Given the description of an element on the screen output the (x, y) to click on. 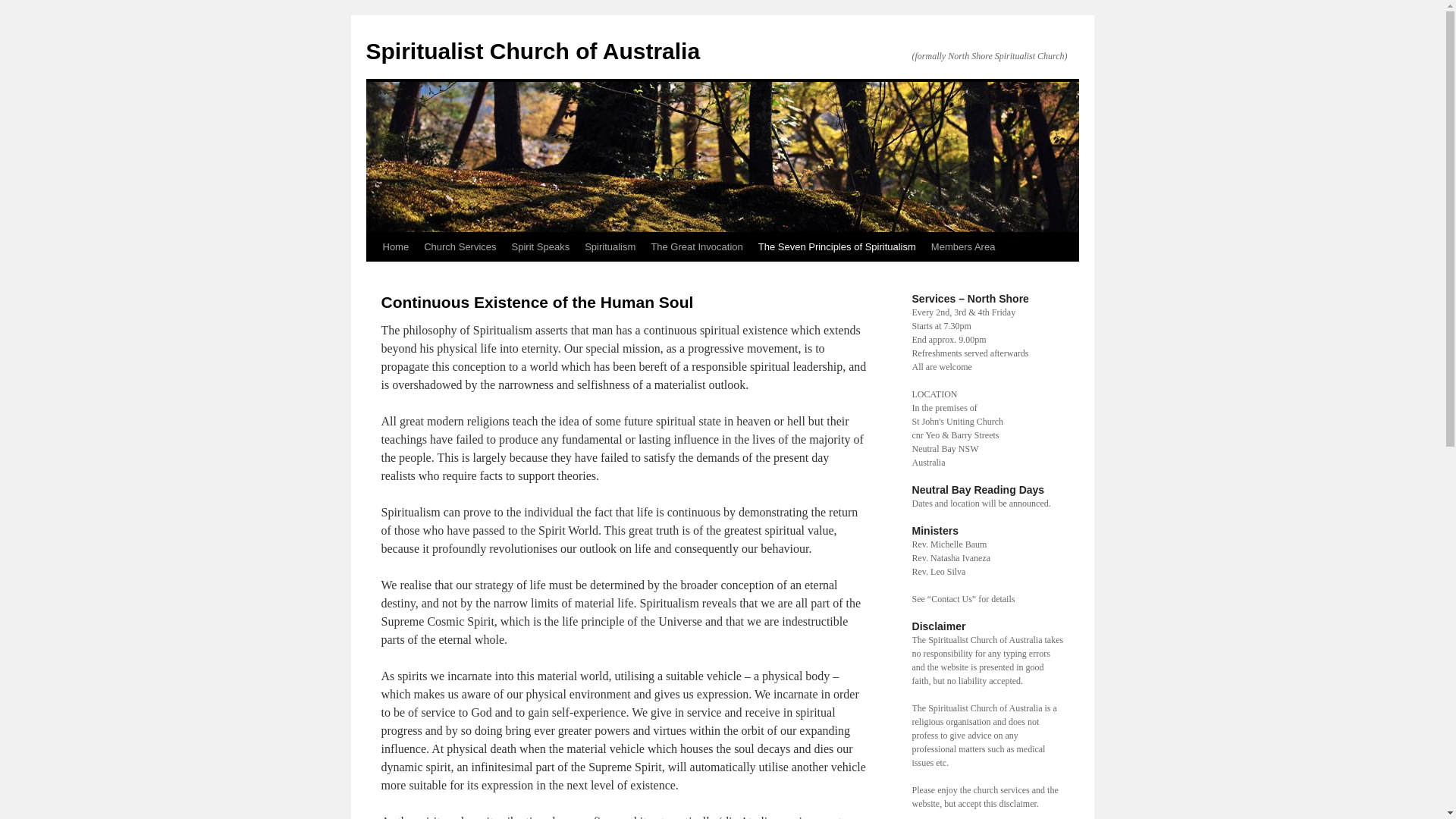
Spiritualism Element type: text (610, 246)
Spirit Speaks Element type: text (540, 246)
Home Element type: text (395, 246)
Members Area Element type: text (963, 246)
Skip to content Element type: text (372, 275)
Church Services Element type: text (459, 246)
The Seven Principles of Spiritualism Element type: text (836, 246)
Spiritualist Church of Australia Element type: text (532, 50)
The Great Invocation Element type: text (696, 246)
